Given the description of an element on the screen output the (x, y) to click on. 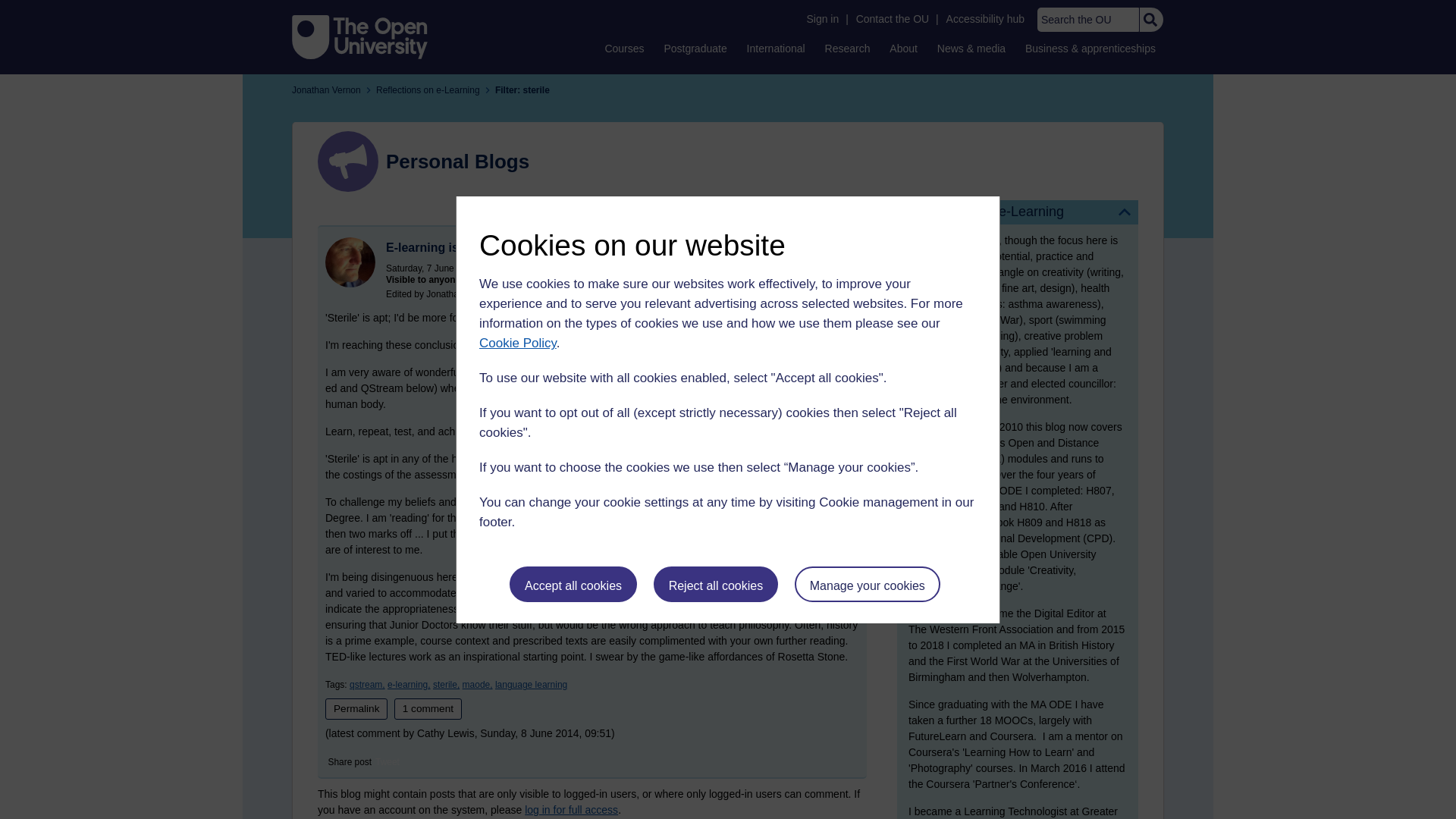
International (775, 48)
Accessibility hub (985, 19)
Research (847, 48)
Accept all cookies (573, 583)
Reject all cookies (715, 583)
Courses (623, 48)
Contact the OU (892, 19)
Search (1149, 19)
Postgraduate (695, 48)
Search (1149, 19)
Reflections on e-Learning (1017, 211)
The Open University (360, 36)
About (903, 48)
Manage your cookies (867, 583)
Sign in (822, 19)
